Given the description of an element on the screen output the (x, y) to click on. 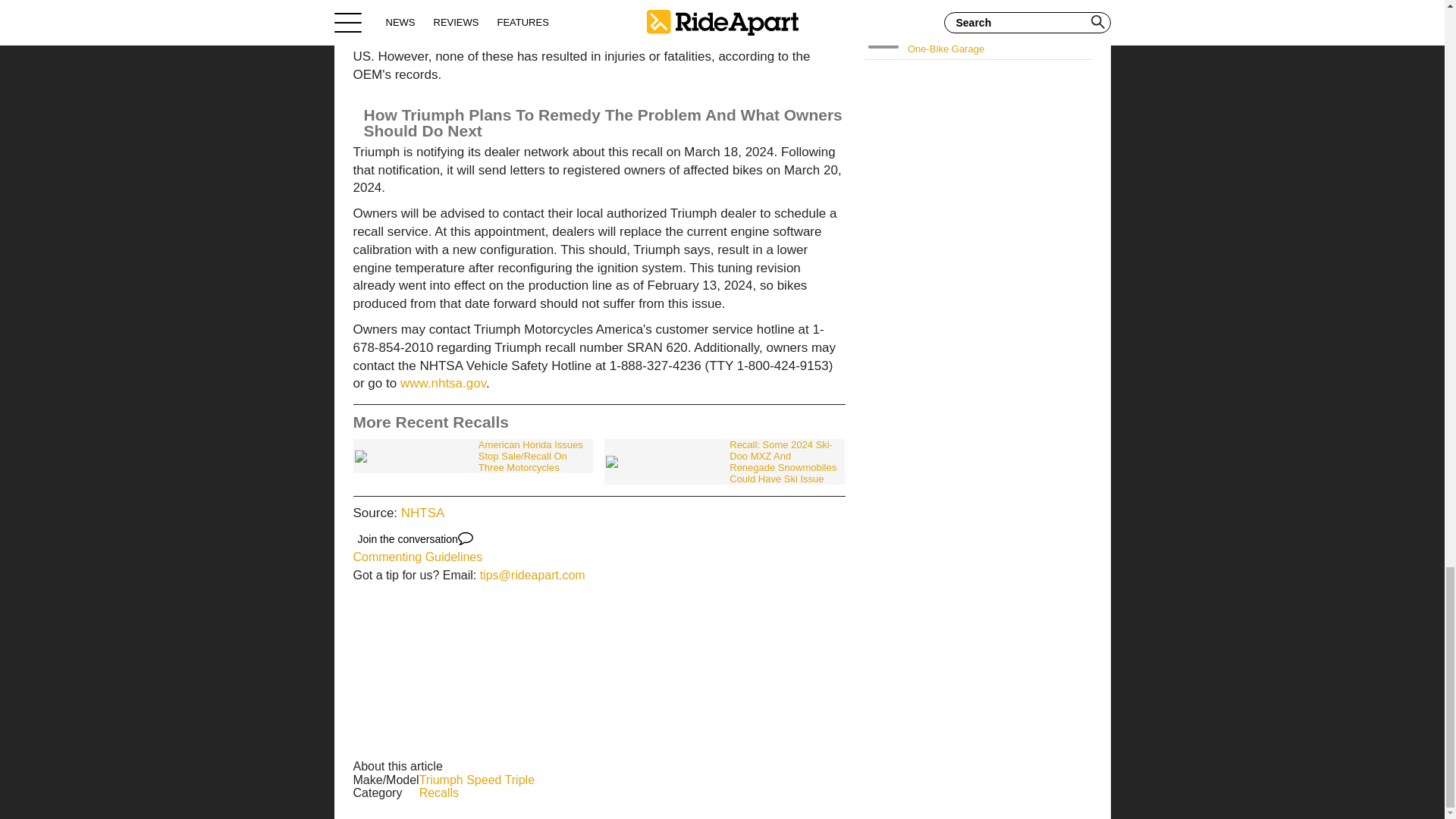
Join the conversation (415, 538)
www.nhtsa.gov (443, 382)
Commenting Guidelines (418, 556)
NHTSA (423, 513)
